Given the description of an element on the screen output the (x, y) to click on. 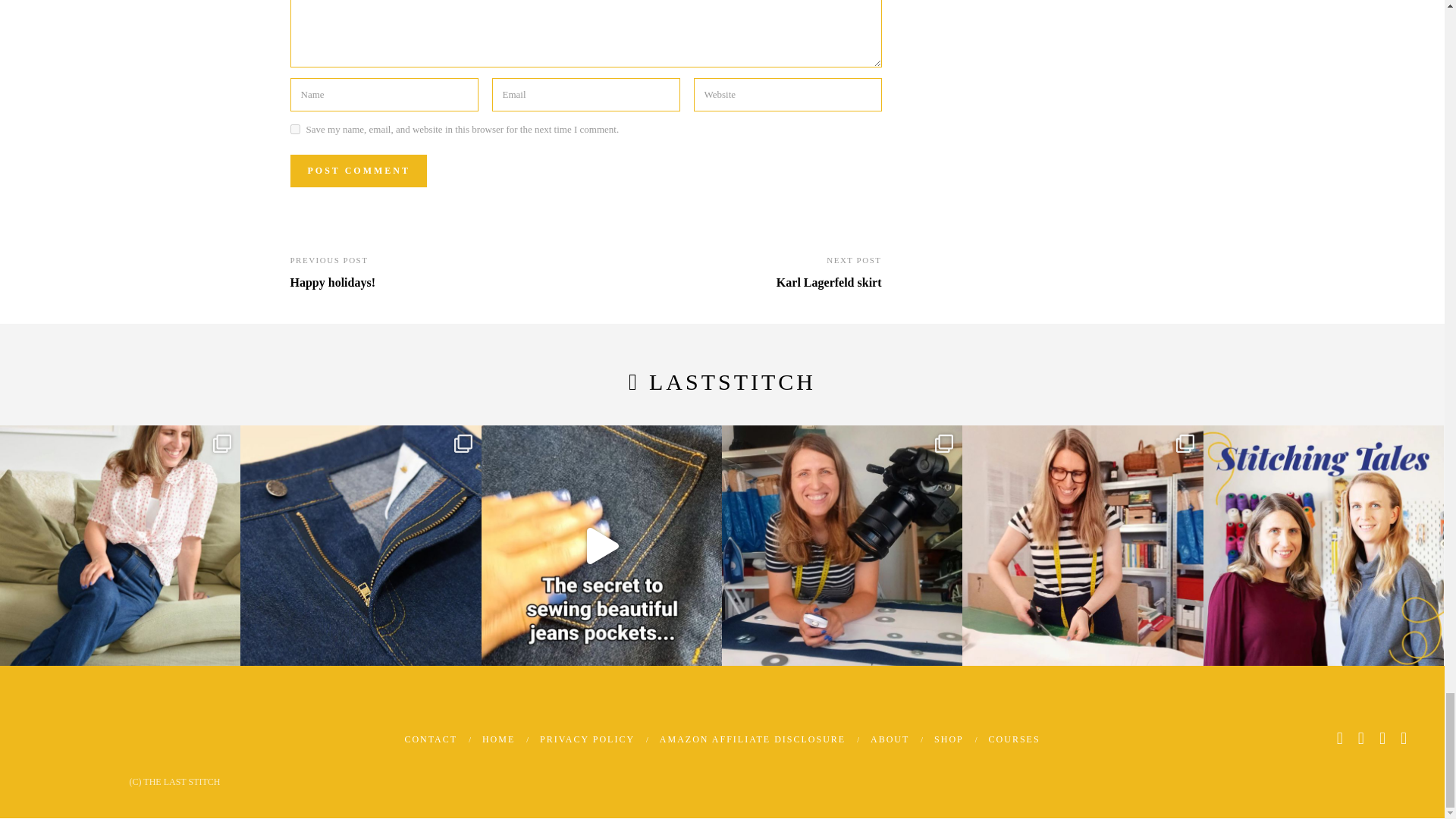
Post Comment (357, 170)
yes (294, 129)
